Given the description of an element on the screen output the (x, y) to click on. 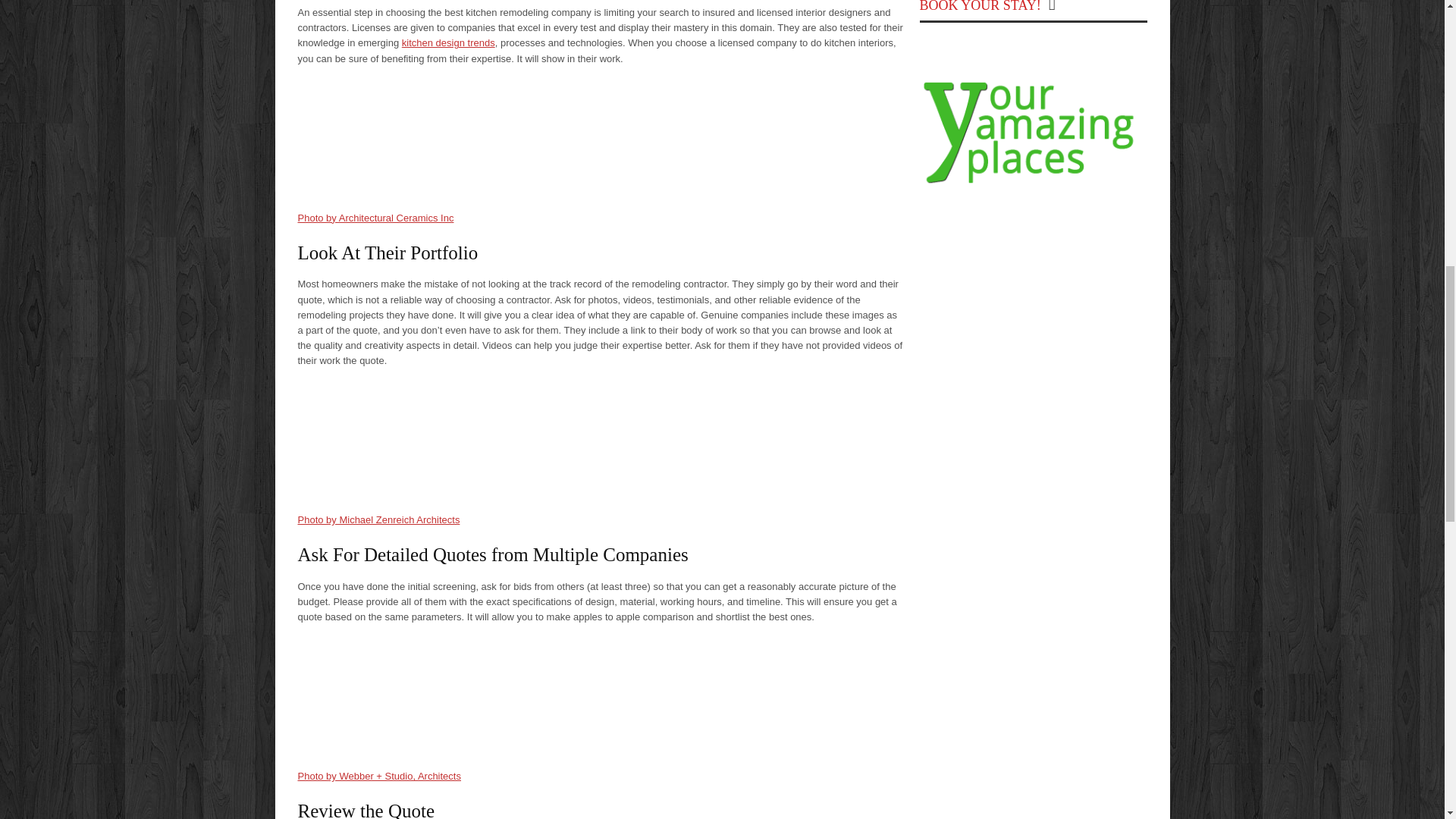
Your Amazing Places (1032, 183)
How to Choose the Best Kitchen Remodeling Company (600, 138)
How to Choose the Best Kitchen Remodeling Company (600, 696)
How to Choose the Best Kitchen Remodeling Company (600, 440)
